Given the description of an element on the screen output the (x, y) to click on. 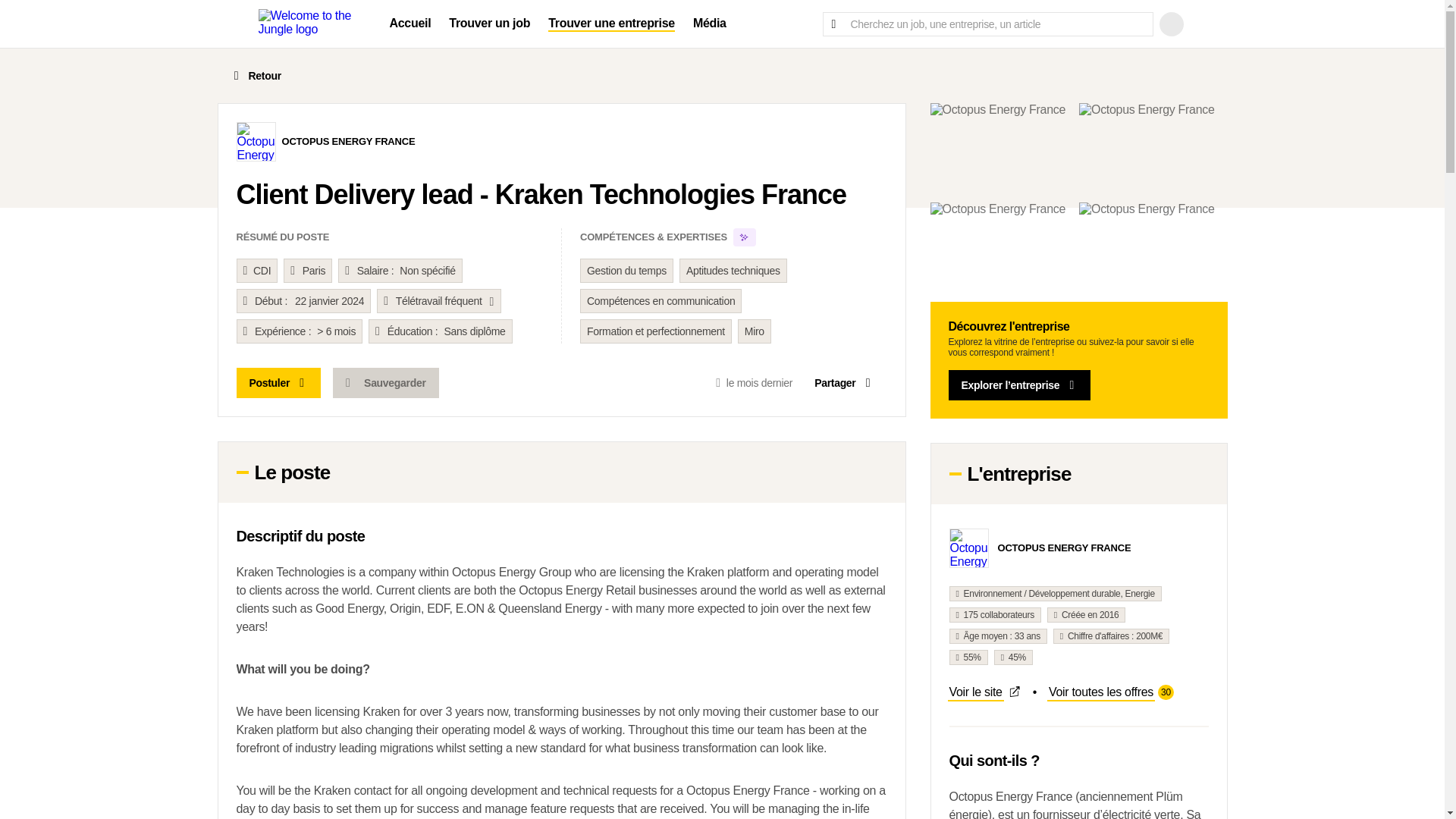
Welcome to the Jungle (304, 22)
Postuler (278, 382)
Sauvegarder (385, 382)
Trouver une entreprise (1110, 692)
OCTOPUS ENERGY FRANCE (611, 23)
Partager (1064, 548)
Accueil (844, 382)
Voir le site (410, 23)
OCTOPUS ENERGY FRANCE (984, 692)
Retour (348, 142)
Trouver un job (255, 75)
